Given the description of an element on the screen output the (x, y) to click on. 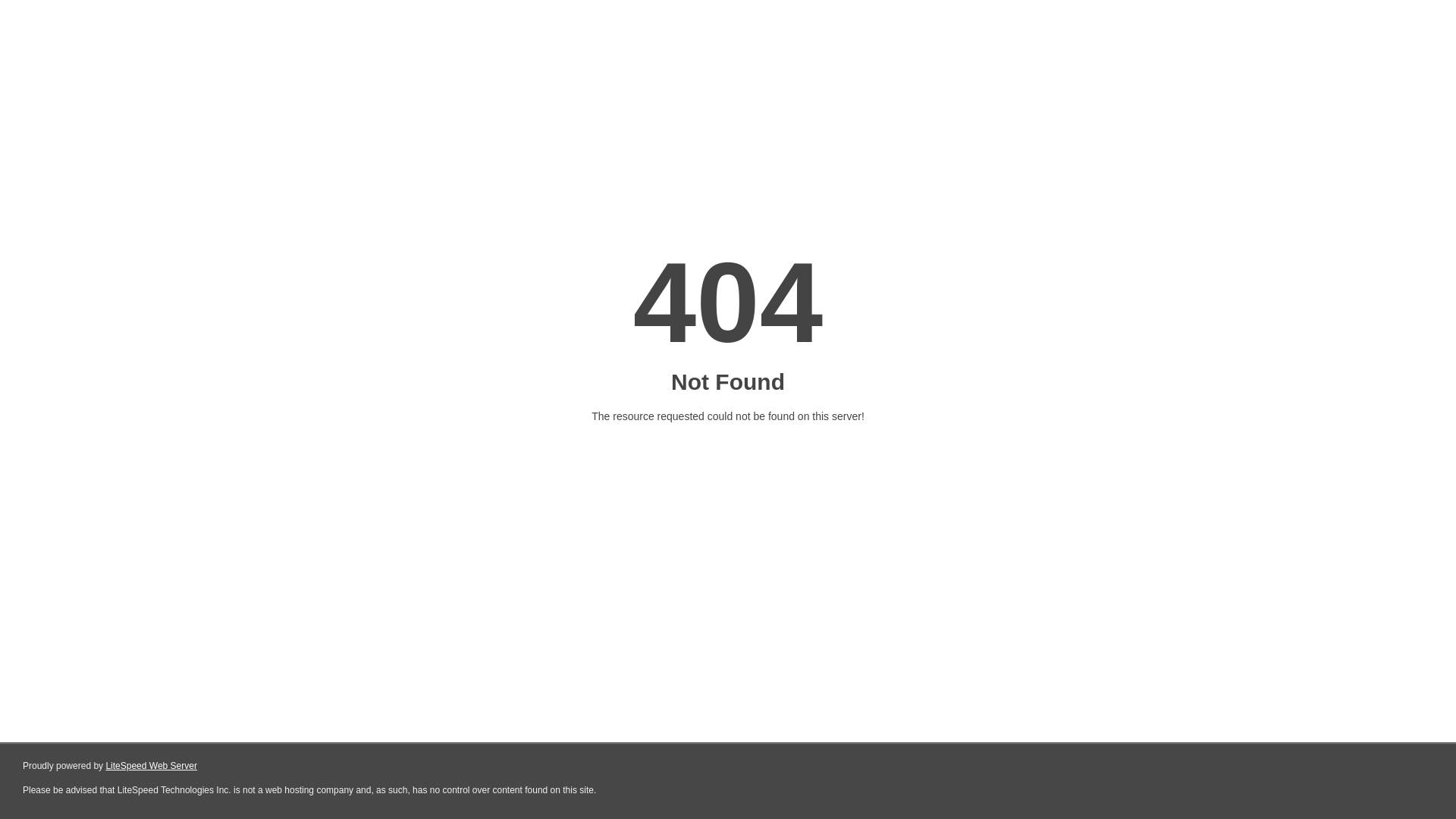
LiteSpeed Web Server (150, 765)
